Given the description of an element on the screen output the (x, y) to click on. 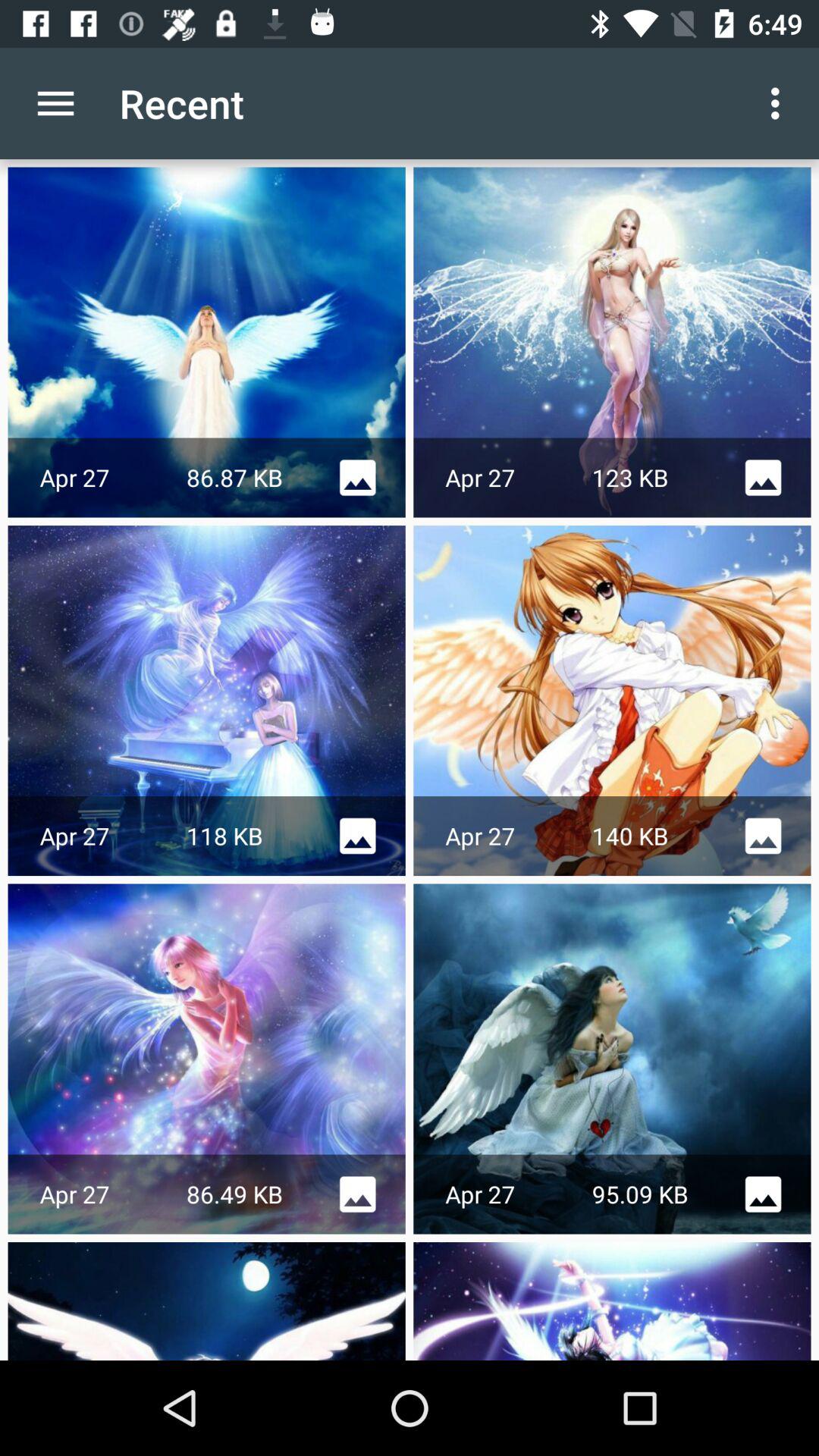
click app next to recent item (779, 103)
